Given the description of an element on the screen output the (x, y) to click on. 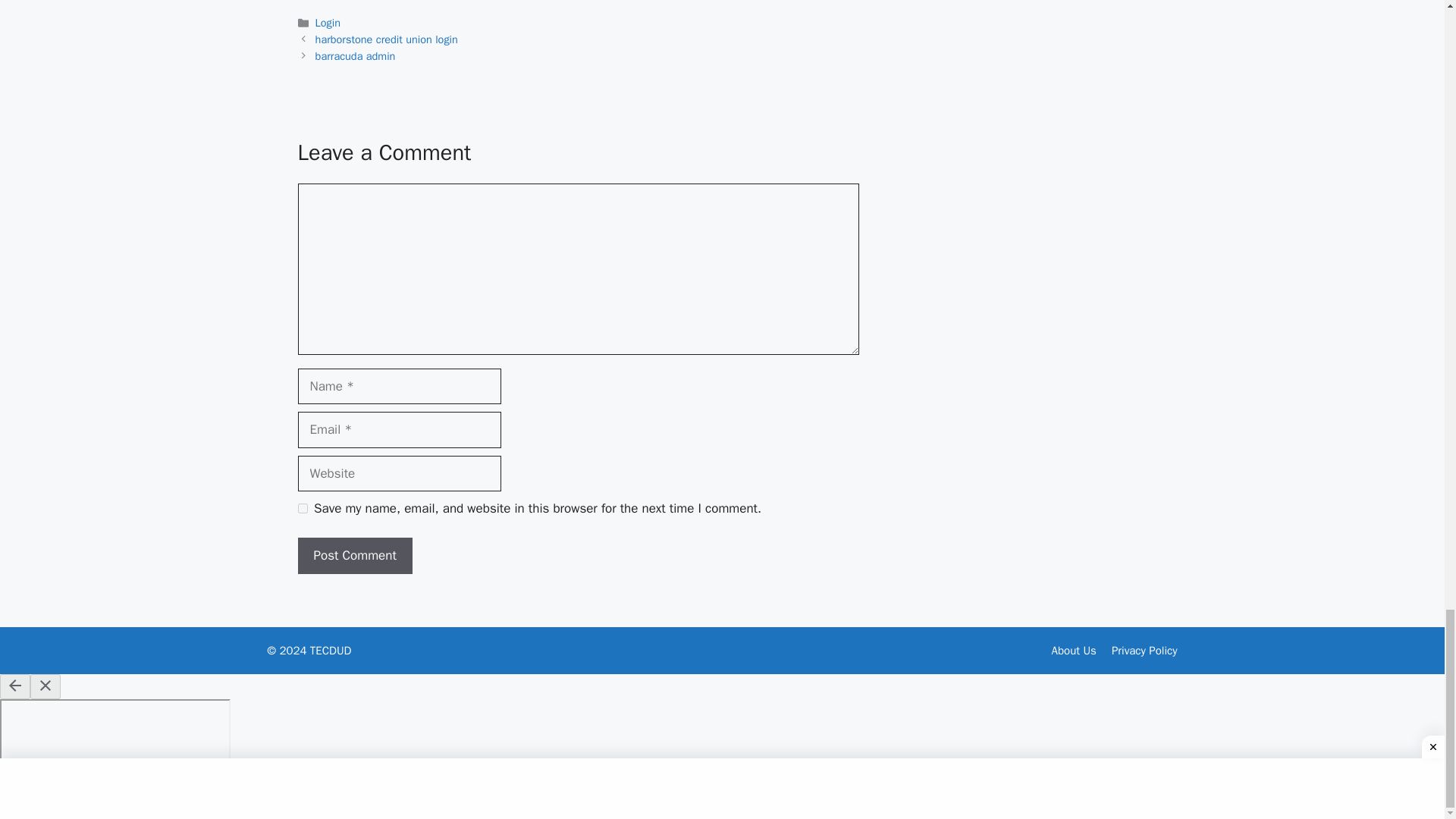
yes (302, 508)
About Us (1073, 650)
Post Comment (354, 555)
Privacy Policy (1144, 650)
barracuda admin (355, 56)
harborstone credit union login (386, 38)
Login (327, 22)
Post Comment (354, 555)
